Given the description of an element on the screen output the (x, y) to click on. 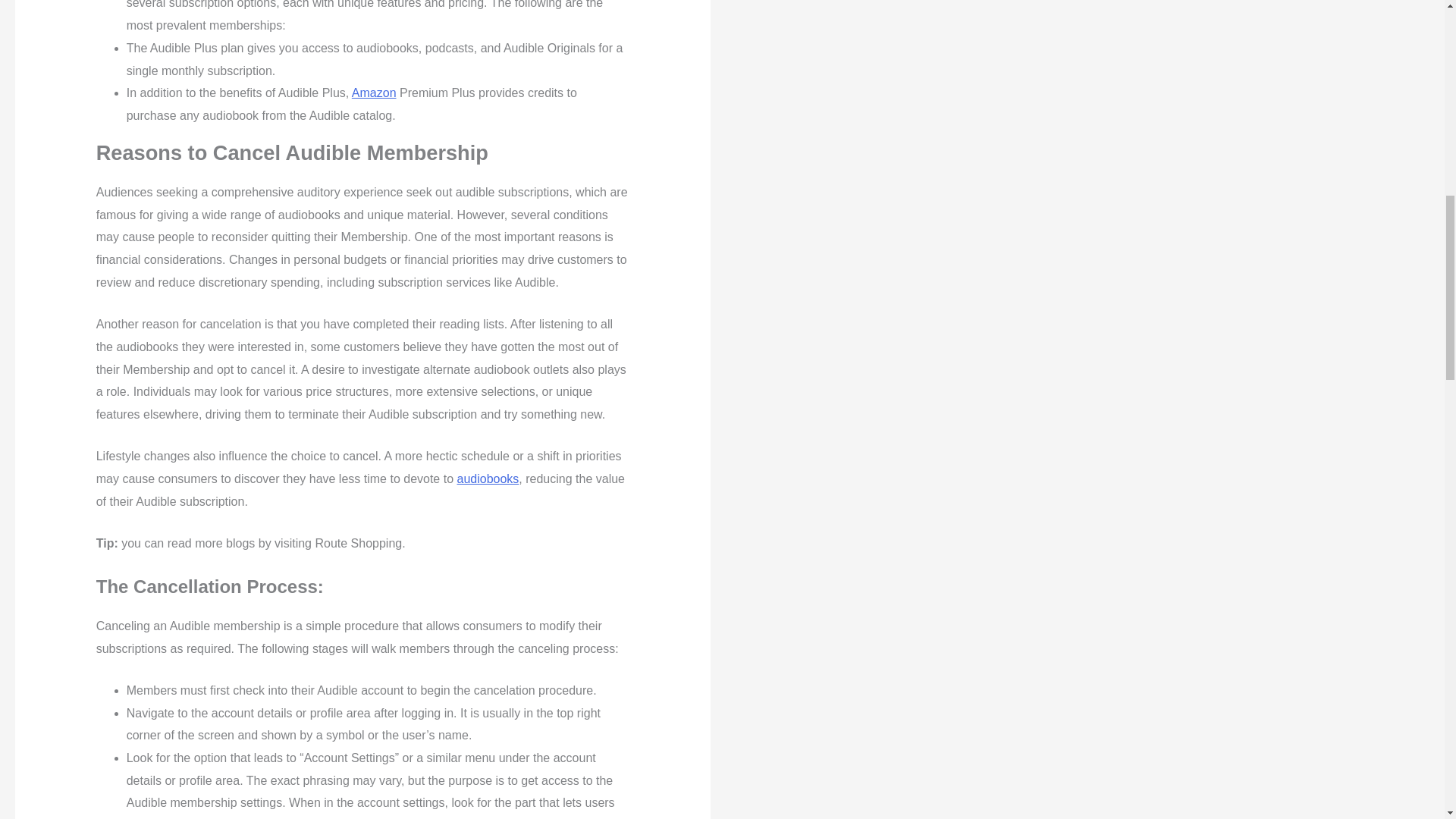
Amazon (374, 92)
audiobooks (487, 478)
